Given the description of an element on the screen output the (x, y) to click on. 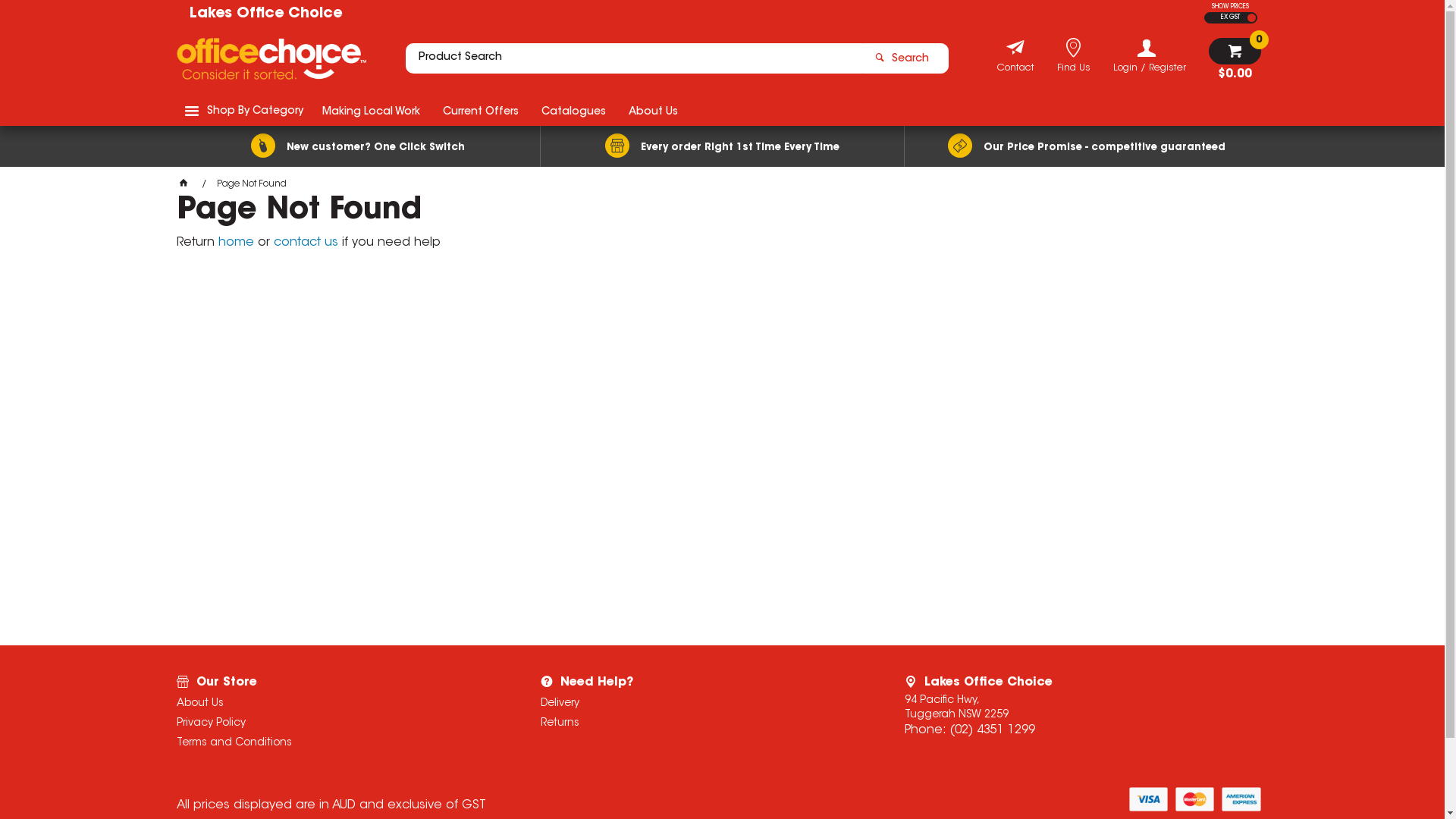
Privacy Policy Element type: text (337, 723)
Contact Element type: text (1014, 69)
Our Price Promise - competitive guaranteed Element type: text (1085, 145)
About Us Element type: text (653, 110)
Making Local Work Element type: text (370, 110)
Returns Element type: text (701, 723)
About Us Element type: text (337, 703)
New customer? One Click Switch Element type: text (357, 145)
home Element type: text (236, 242)
Every order Right 1st Time Every Time Element type: text (721, 145)
(02) 4351 1299 Element type: text (992, 730)
Current Offers Element type: text (479, 110)
$0.00
0 Element type: text (1234, 59)
Delivery Element type: text (701, 703)
Find Us Element type: text (1073, 69)
Catalogues Element type: text (572, 110)
EX GST Element type: text (1222, 17)
INC GST Element type: text (1250, 17)
Terms and Conditions Element type: text (337, 743)
Login / Register Element type: text (1149, 55)
contact us Element type: text (305, 242)
Search Element type: text (904, 58)
